Given the description of an element on the screen output the (x, y) to click on. 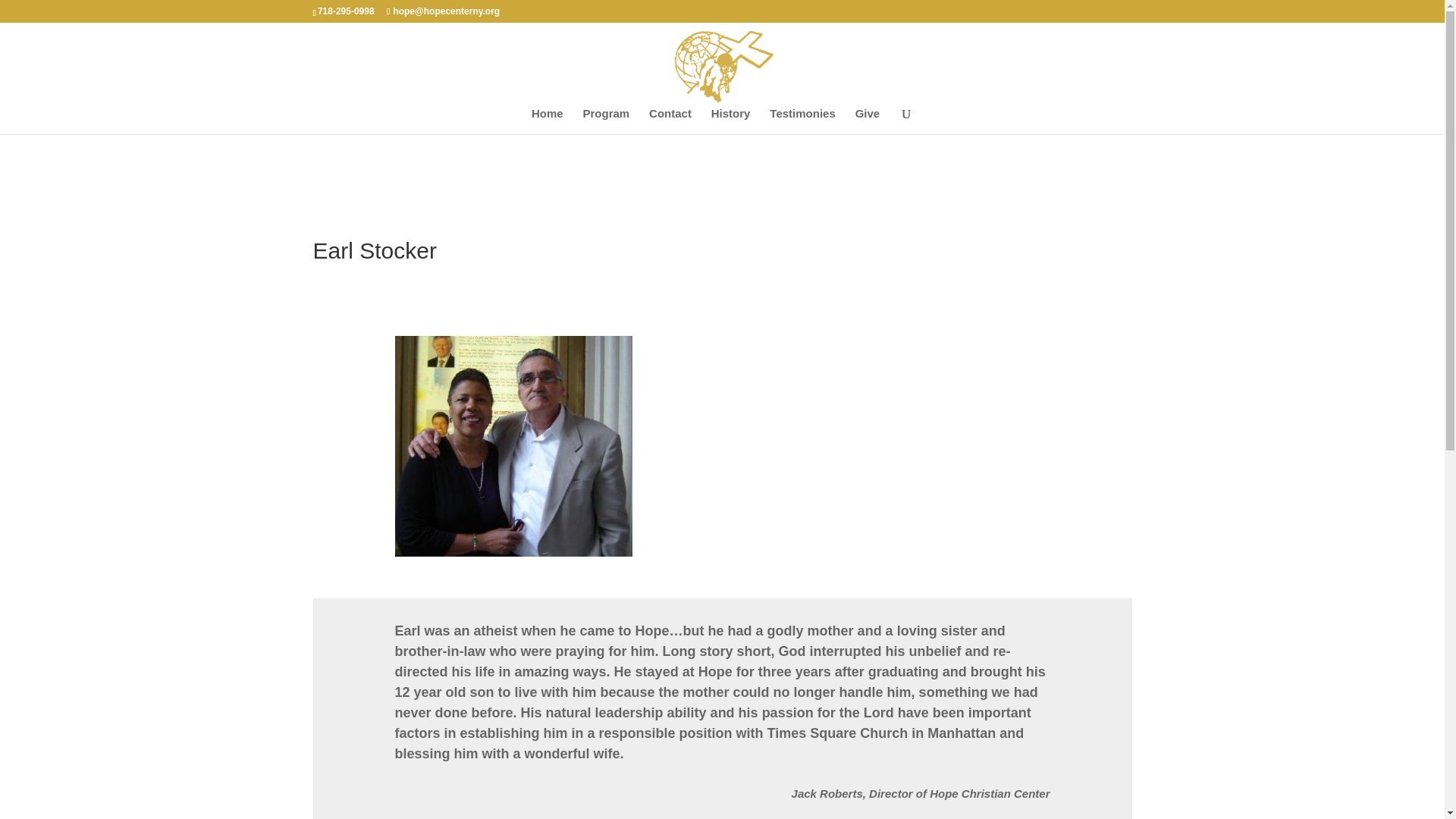
History (731, 121)
Contact (670, 121)
Give (868, 121)
Program (605, 121)
Home (547, 121)
Testimonies (802, 121)
